Given the description of an element on the screen output the (x, y) to click on. 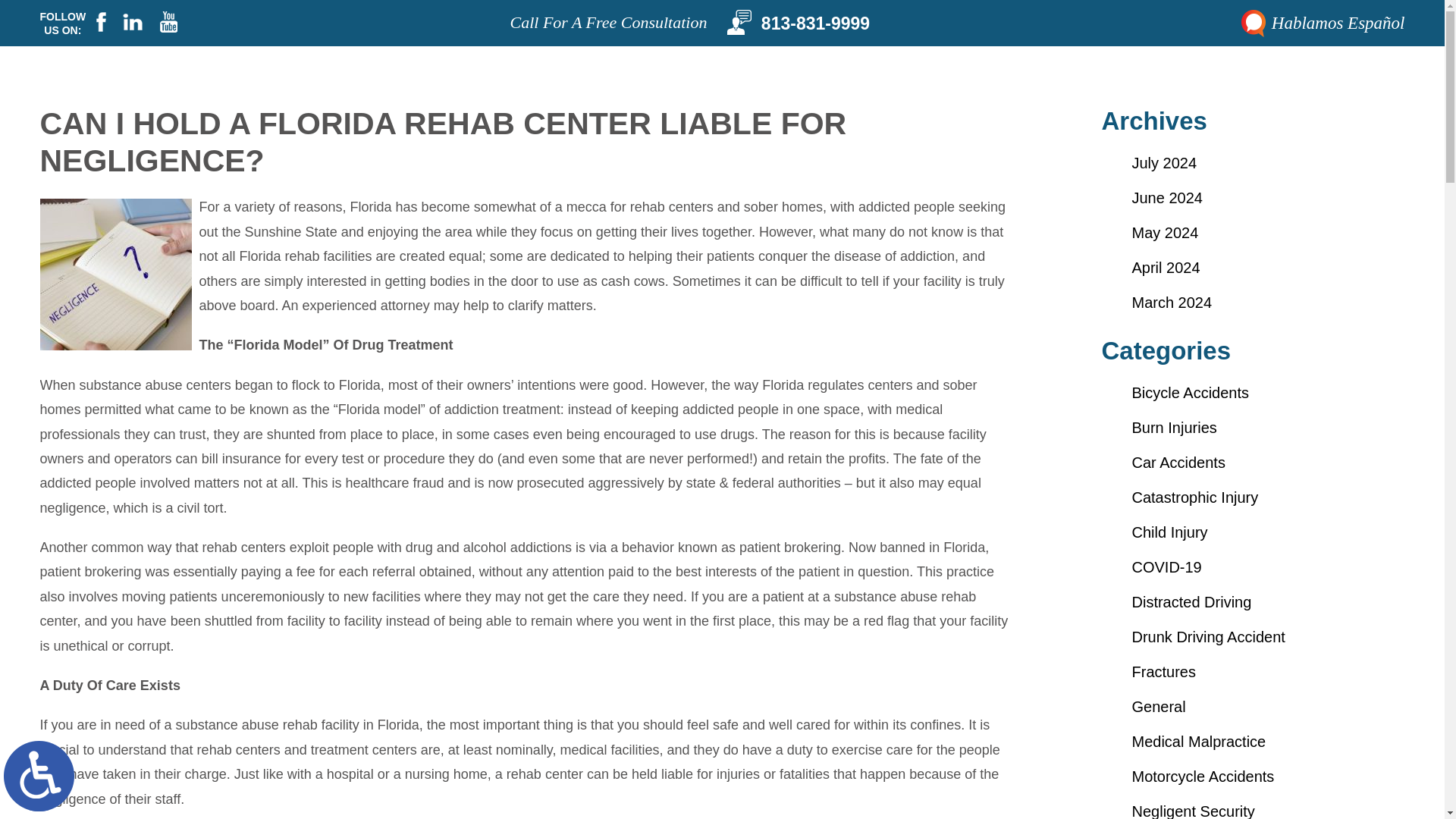
CALL (711, 12)
SEARCH (776, 12)
Negligence3 (114, 274)
MENU (662, 12)
813-831-9999 (797, 46)
EMAIL (743, 12)
